Given the description of an element on the screen output the (x, y) to click on. 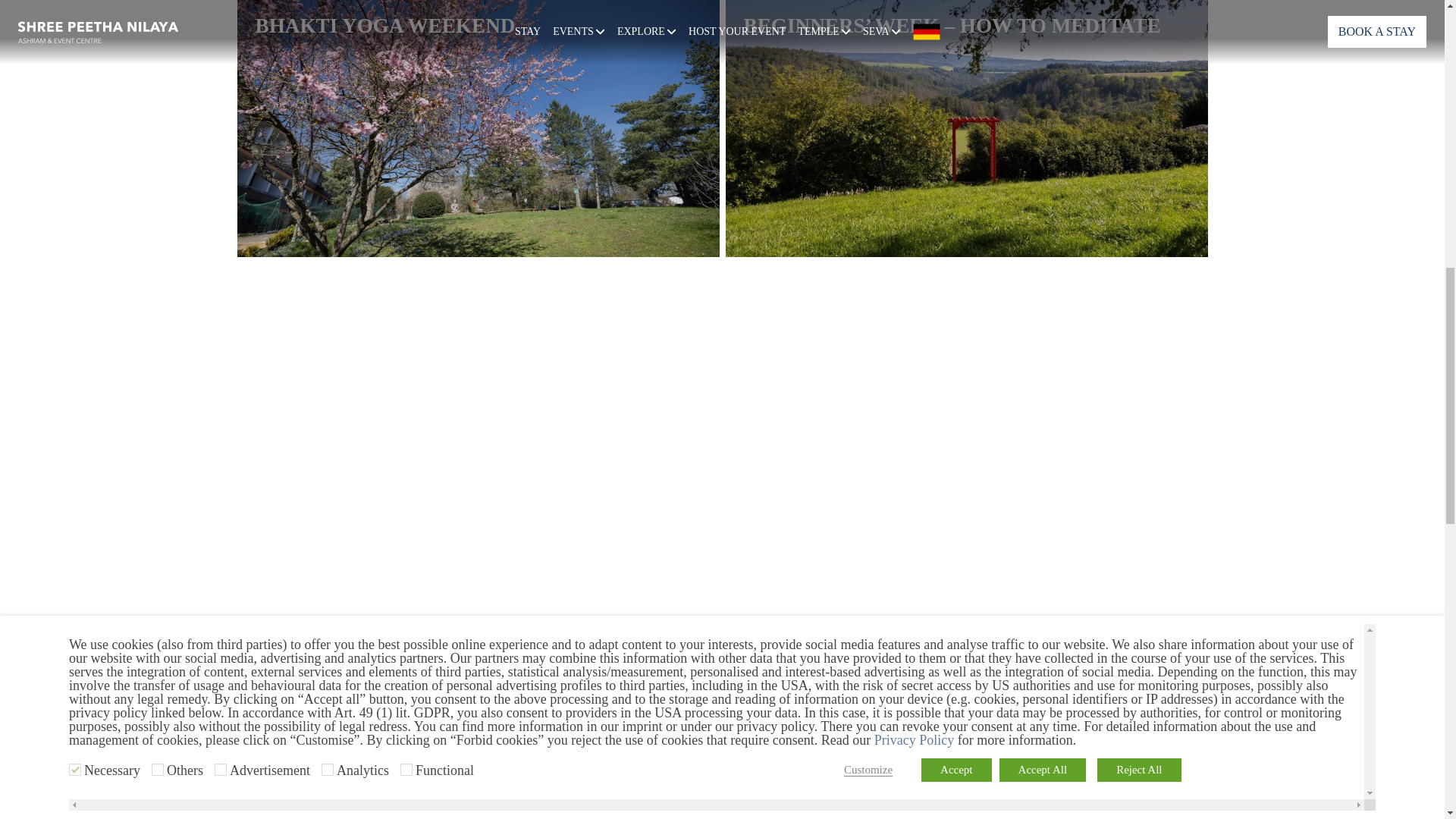
CALENDAR VIEW (721, 754)
